Given the description of an element on the screen output the (x, y) to click on. 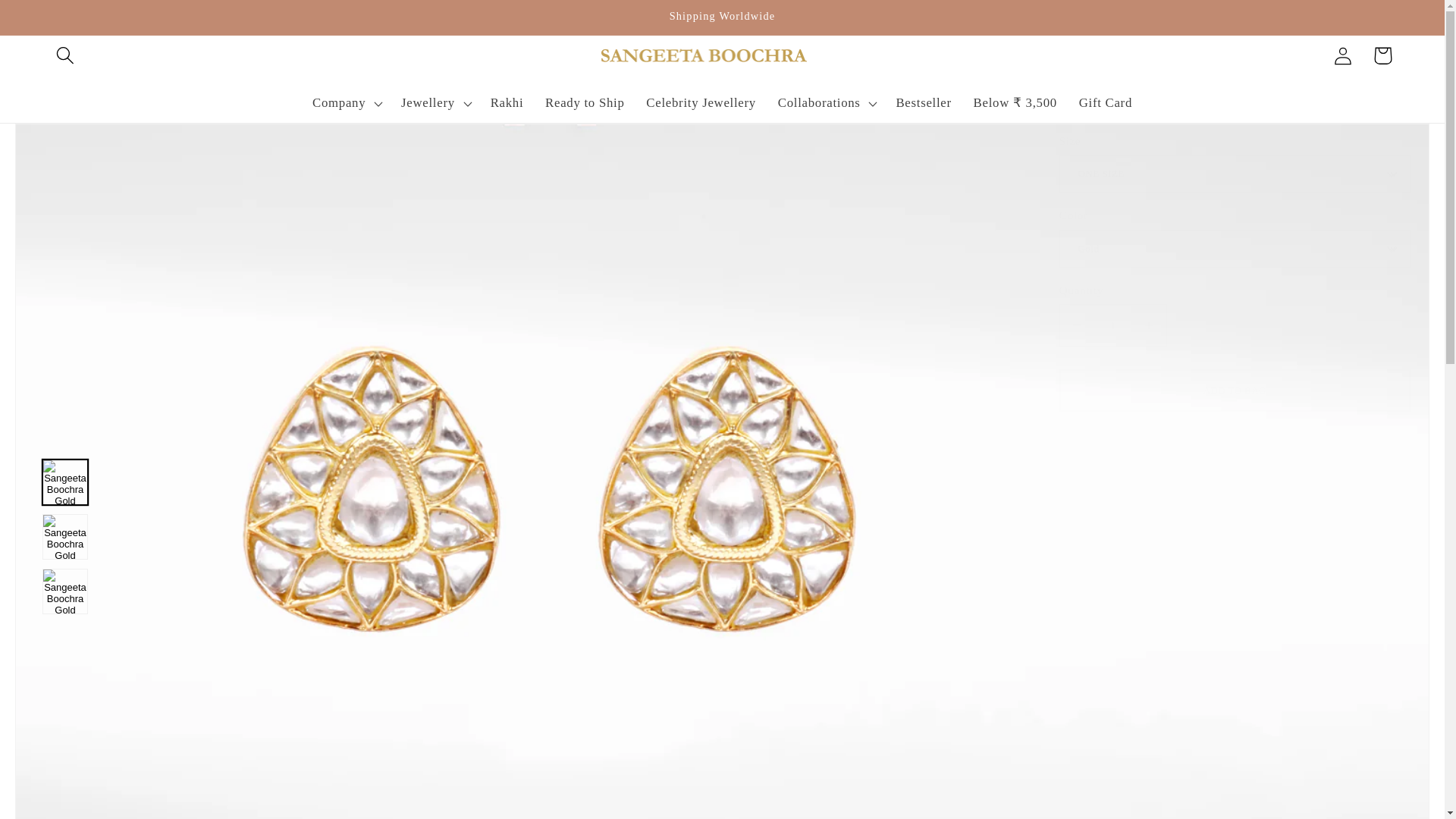
1 (1112, 324)
SKIP TO CONTENT (55, 20)
